Given the description of an element on the screen output the (x, y) to click on. 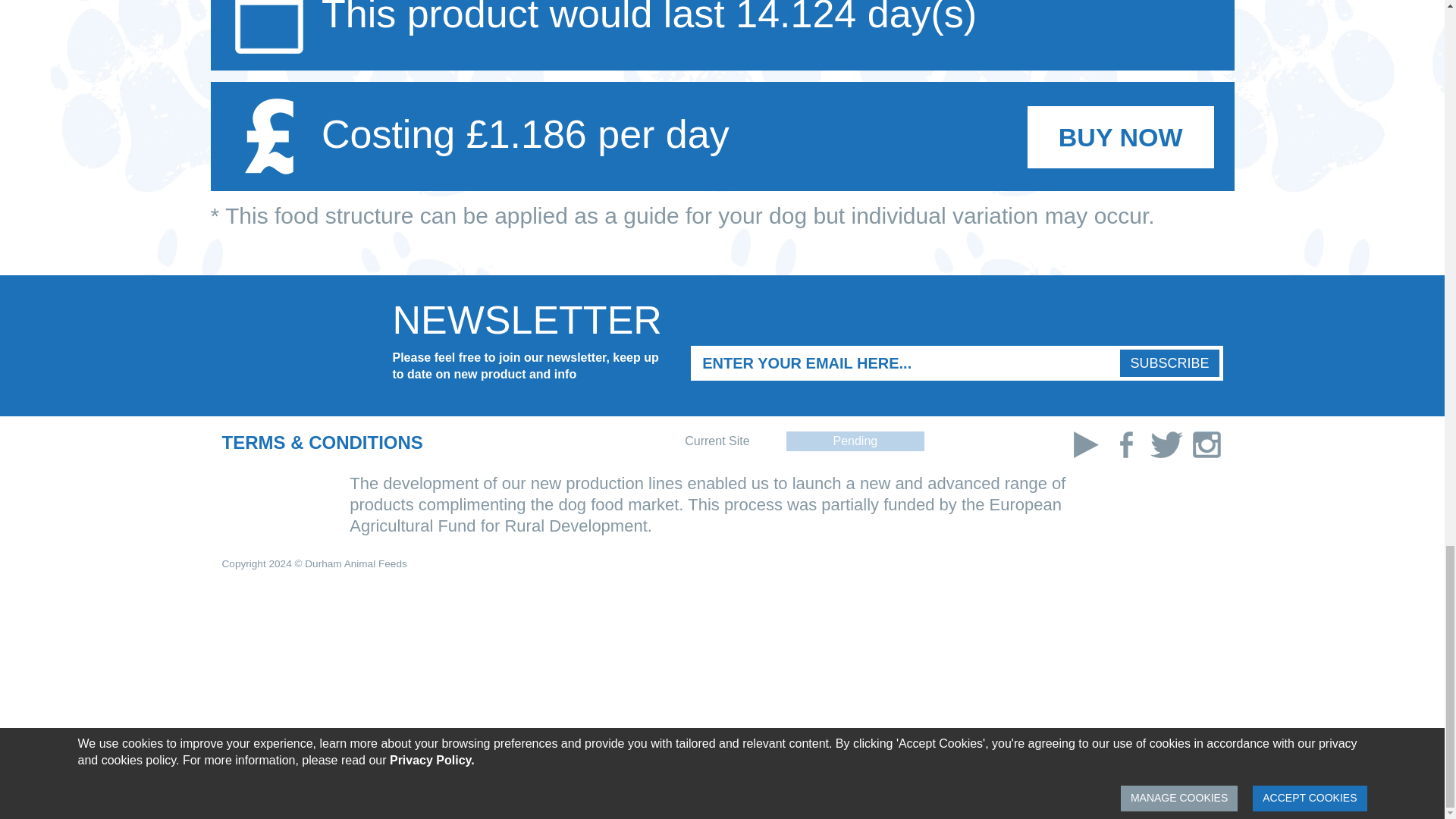
Subscribe (1168, 362)
